Given the description of an element on the screen output the (x, y) to click on. 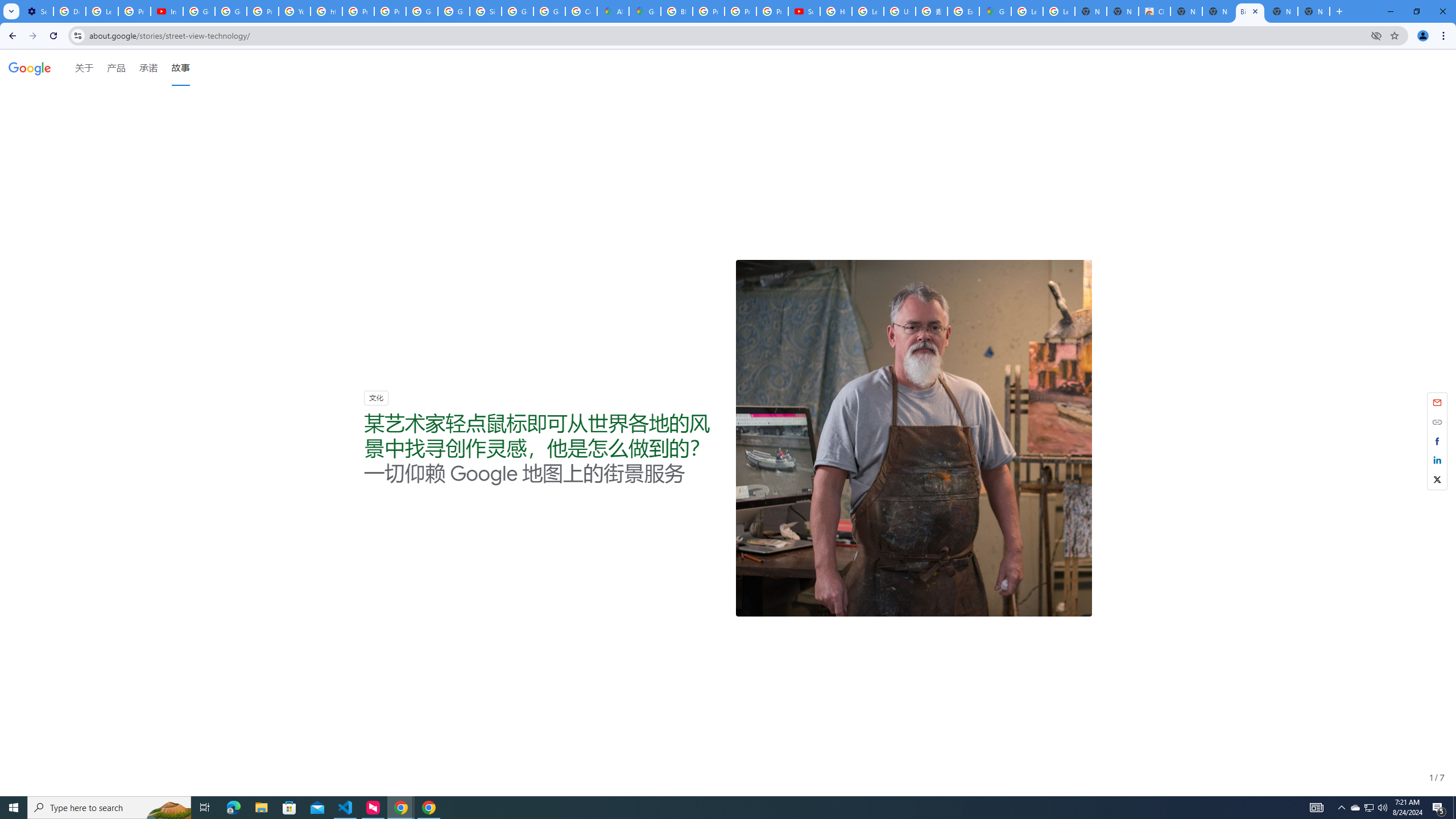
Blogger Policies and Guidelines - Transparency Center (676, 11)
Learn how to find your photos - Google Photos Help (101, 11)
Settings - Customize profile (37, 11)
https://scholar.google.com/ (326, 11)
